Given the description of an element on the screen output the (x, y) to click on. 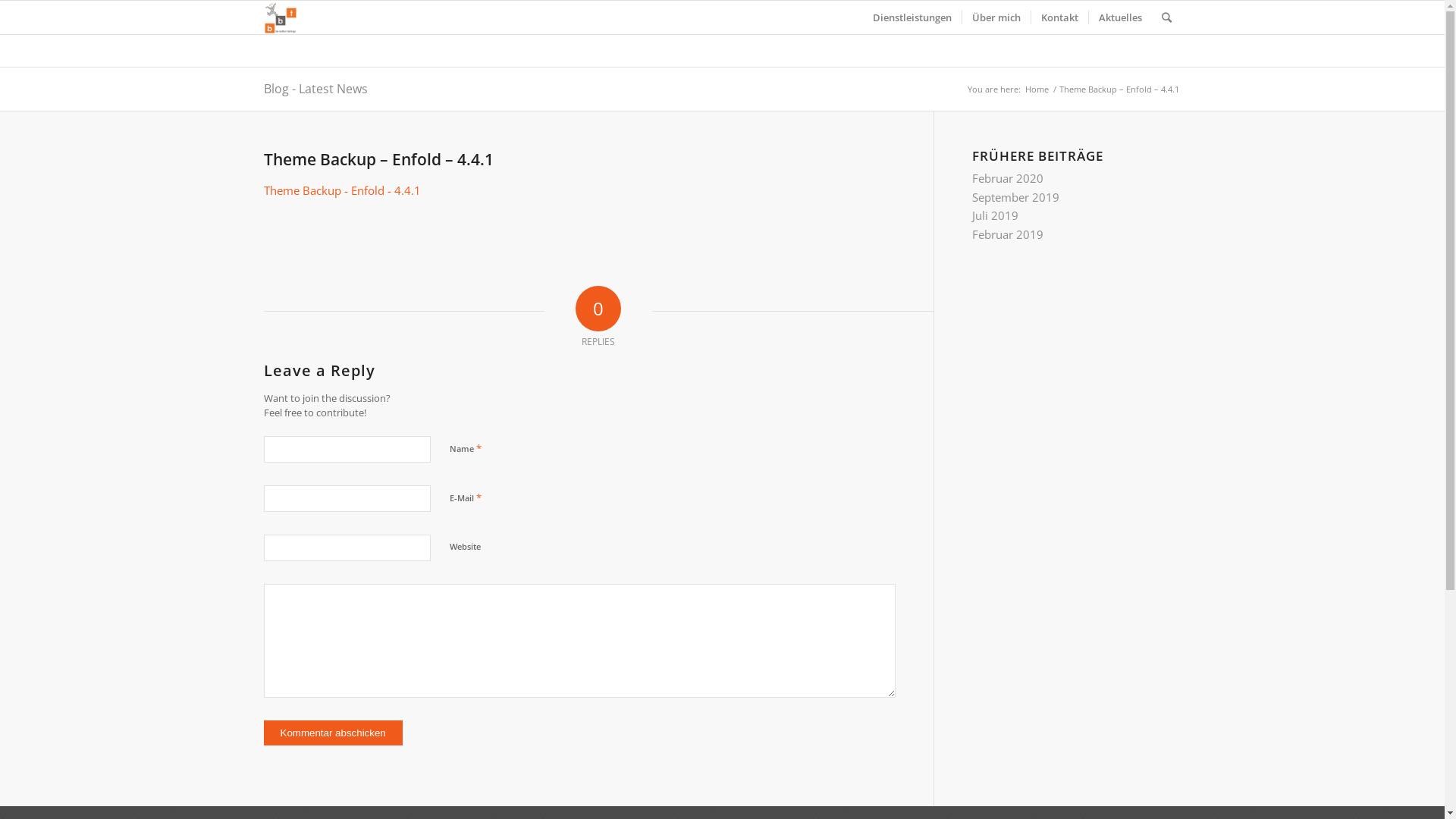
Kommentar abschicken Element type: text (332, 732)
Theme Backup - Enfold - 4.4.1 Element type: text (341, 189)
September 2019 Element type: text (1015, 196)
Juli 2019 Element type: text (995, 214)
Februar 2019 Element type: text (1007, 233)
Home Element type: text (1036, 88)
Februar 2020 Element type: text (1007, 177)
Aktuelles Element type: text (1119, 17)
Kontakt Element type: text (1058, 17)
Dienstleistungen Element type: text (911, 17)
Blog - Latest News Element type: text (315, 88)
